Given the description of an element on the screen output the (x, y) to click on. 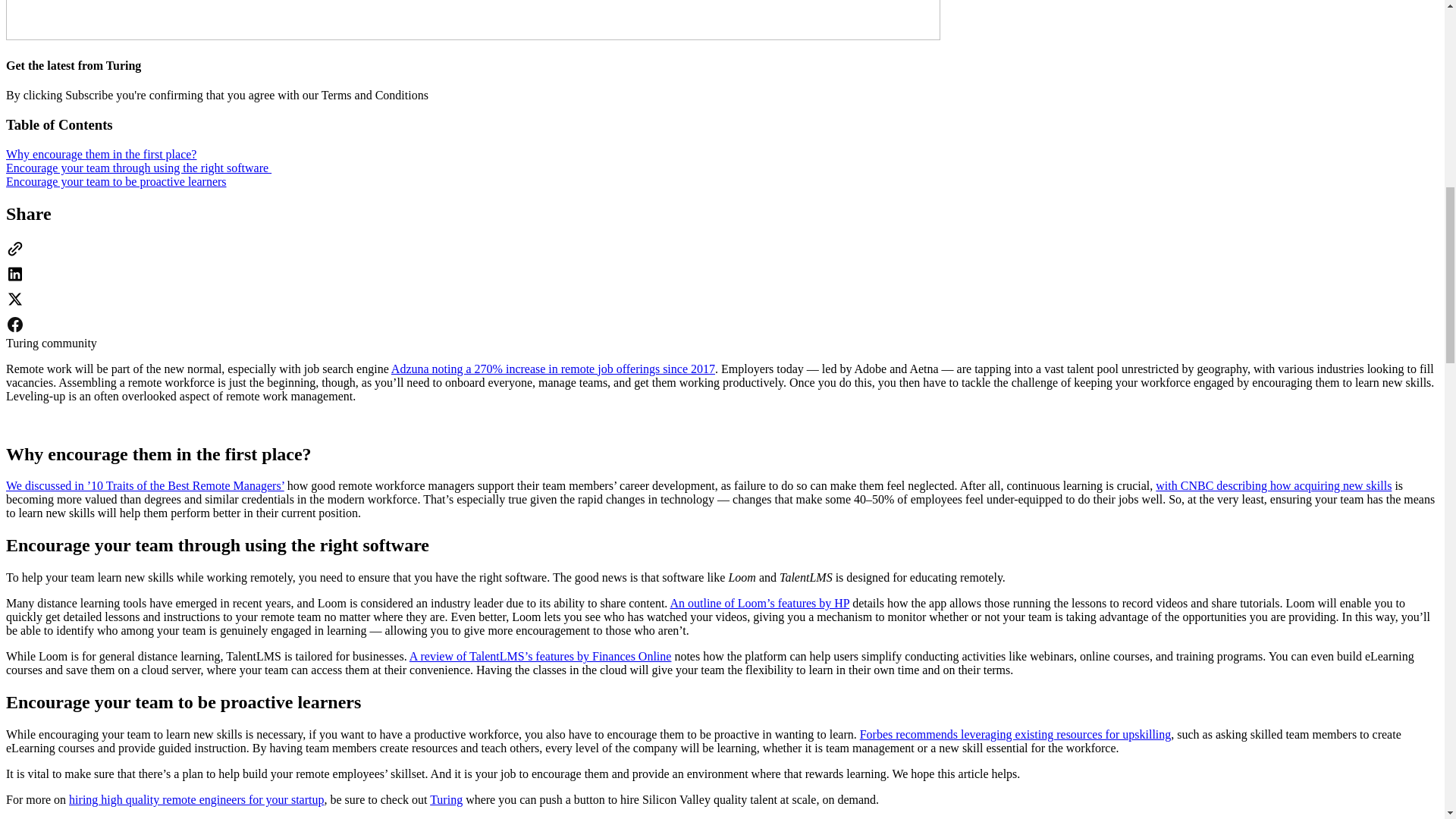
with CNBC describing how acquiring new skills (1273, 485)
hiring high quality remote engineers for your startup (195, 799)
Turing (446, 799)
